Given the description of an element on the screen output the (x, y) to click on. 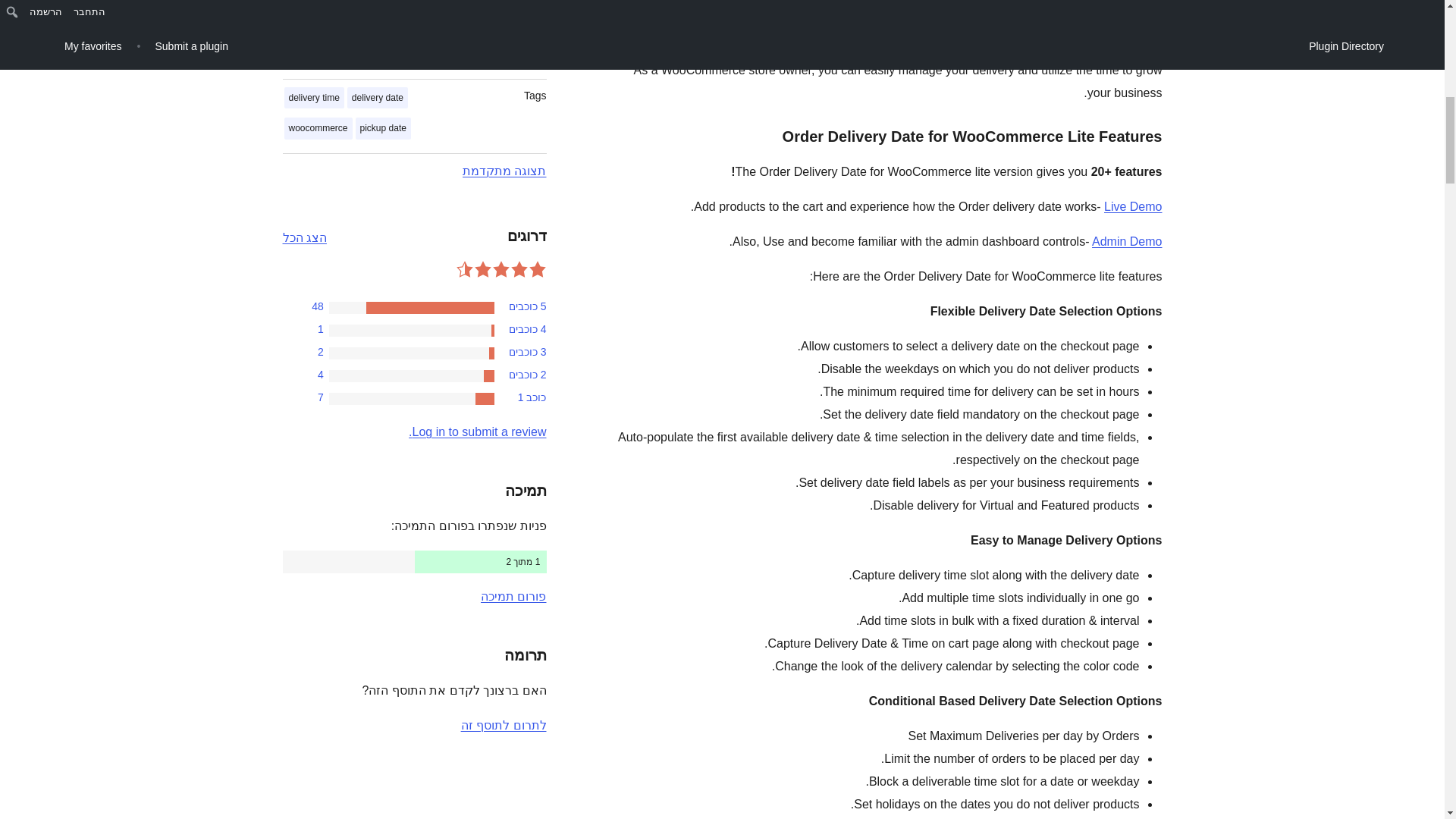
Live Demo (1132, 205)
Admin Demo (1126, 241)
